Given the description of an element on the screen output the (x, y) to click on. 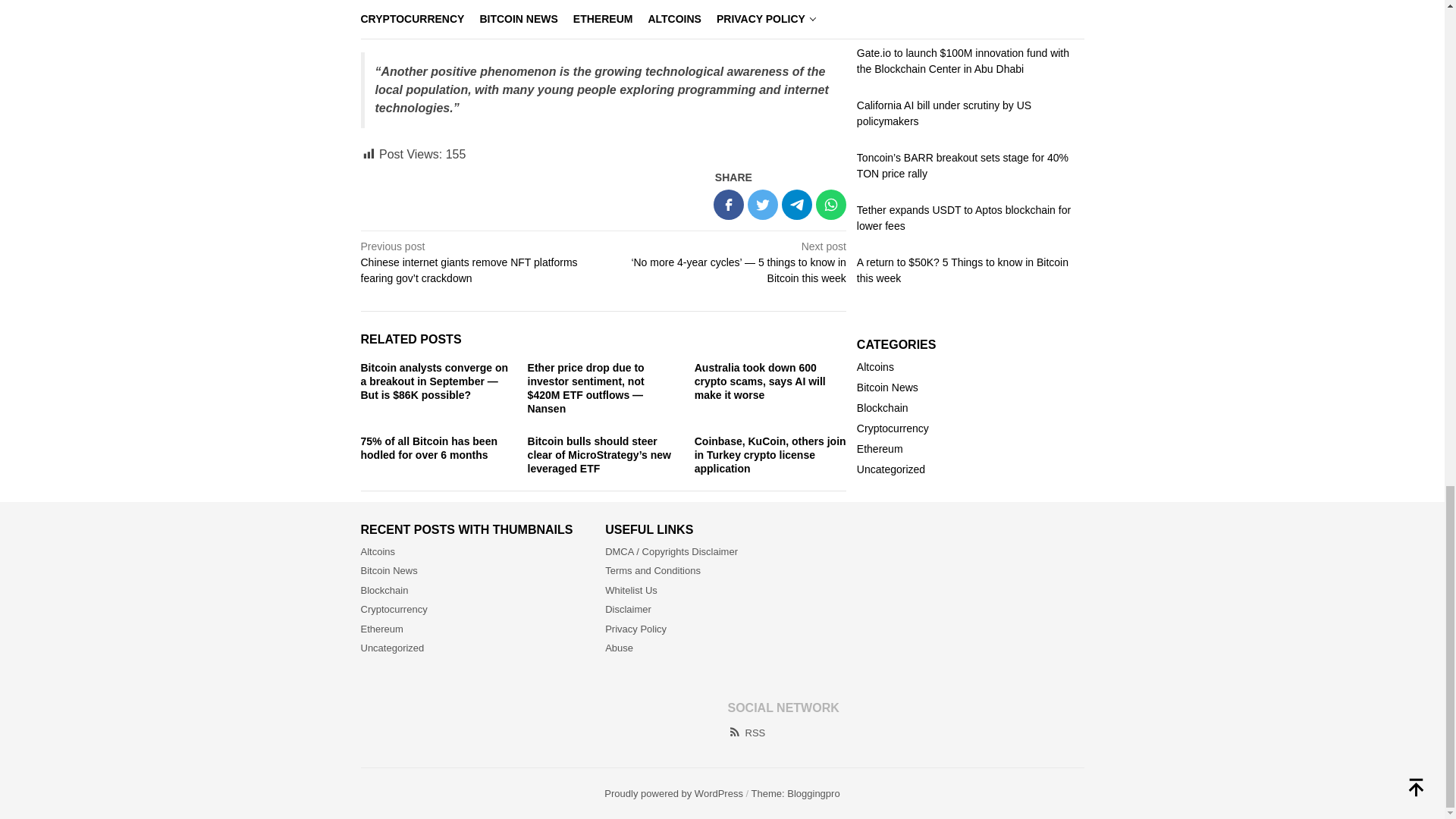
WhatsApp this (830, 204)
Tweet this (762, 204)
low (822, 12)
Share this (728, 204)
Telegram Share (796, 204)
